Given the description of an element on the screen output the (x, y) to click on. 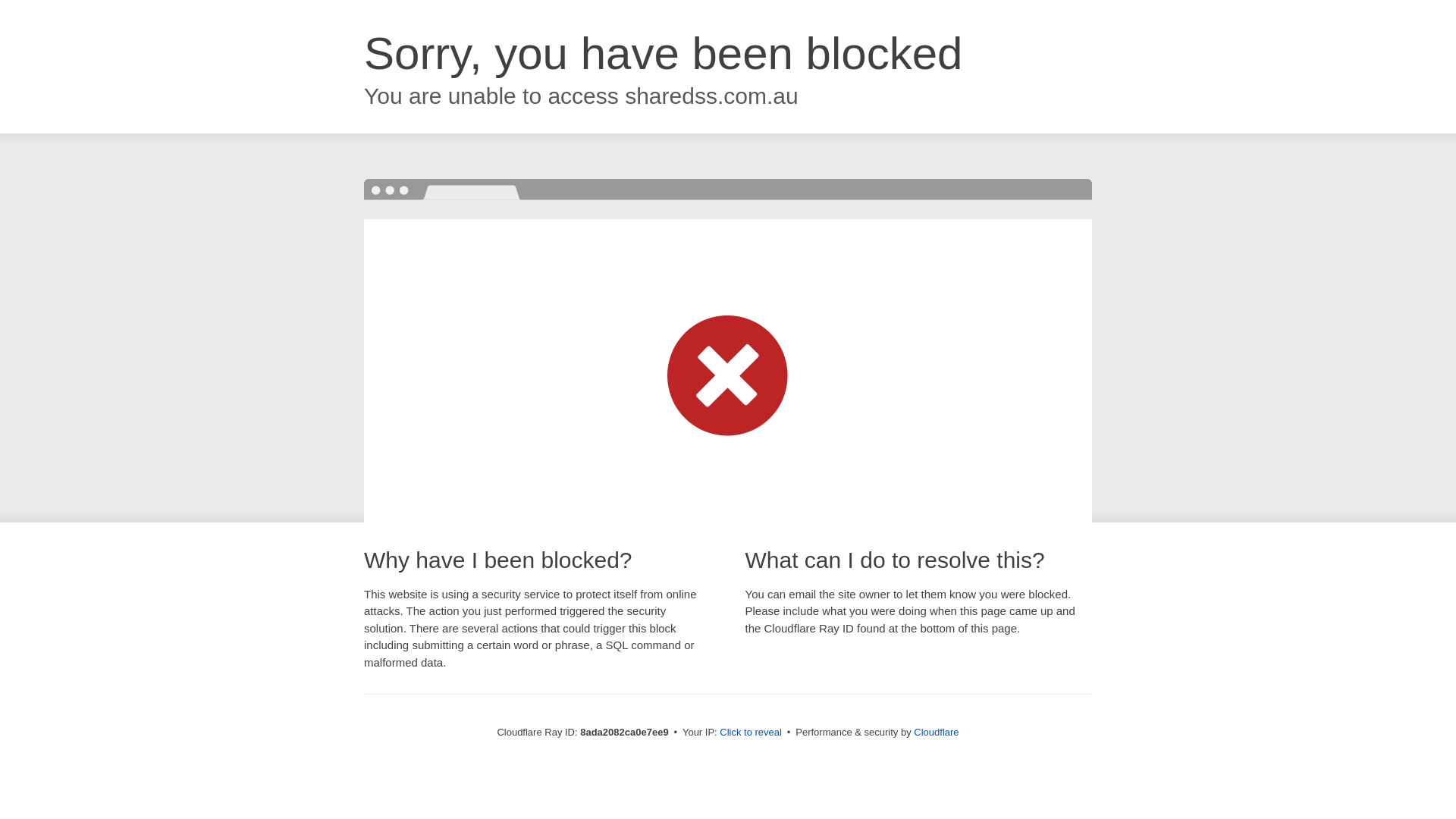
Cloudflare (936, 731)
Click to reveal (750, 732)
